Given the description of an element on the screen output the (x, y) to click on. 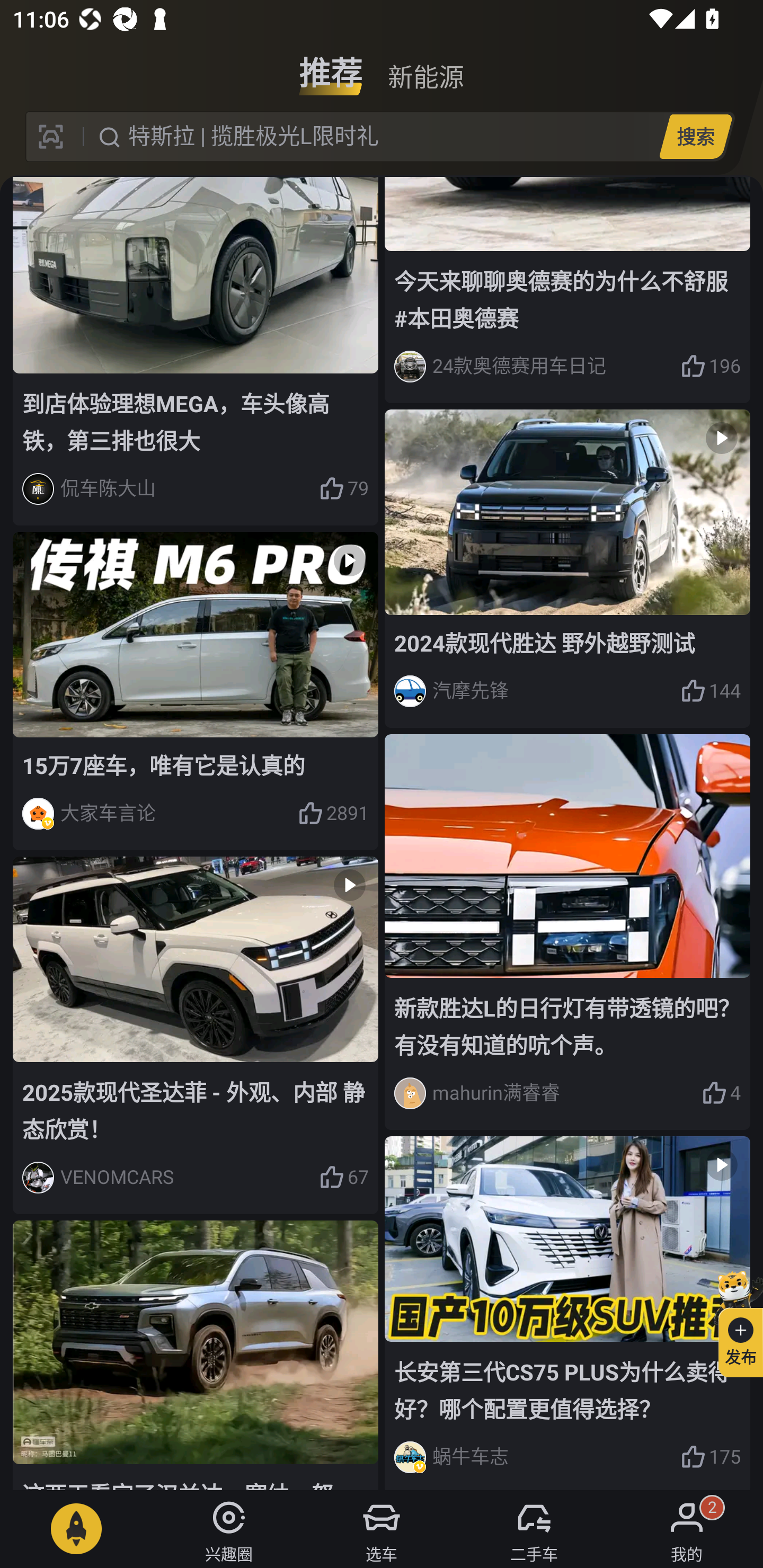
推荐 (330, 65)
新能源 (425, 65)
搜索 (695, 136)
到店体验理想MEGA，车头像高铁，第三排也很大 侃车陈大山 79 (195, 351)
今天来聊聊奥德赛的为什么不舒服#本田奥德赛 24款奥德赛用车日记 196 (567, 289)
196 (710, 366)
 2024款现代胜达 野外越野测试 汽摩先锋 144 (567, 568)
79 (343, 488)
 15万7座车，唯有它是认真的 大家车言论 2891 (195, 690)
144 (710, 691)
新款胜达L的日行灯有带透镜的吧？有没有知道的吭个声。 mahurin满睿睿 4 (567, 931)
2891 (332, 813)
 2025款现代圣达菲 - 外观、内部 静态欣赏！ VENOMCARS 67 (195, 1034)
4 (720, 1092)
 长安第三代CS75 PLUS为什么卖得好？哪个配置更值得选择？ 蜗牛车志 175 (567, 1312)
67 (343, 1177)
发布 (732, 1321)
175 (710, 1457)
 兴趣圈 (228, 1528)
 选车 (381, 1528)
 二手车 (533, 1528)
 我的 (686, 1528)
